Given the description of an element on the screen output the (x, y) to click on. 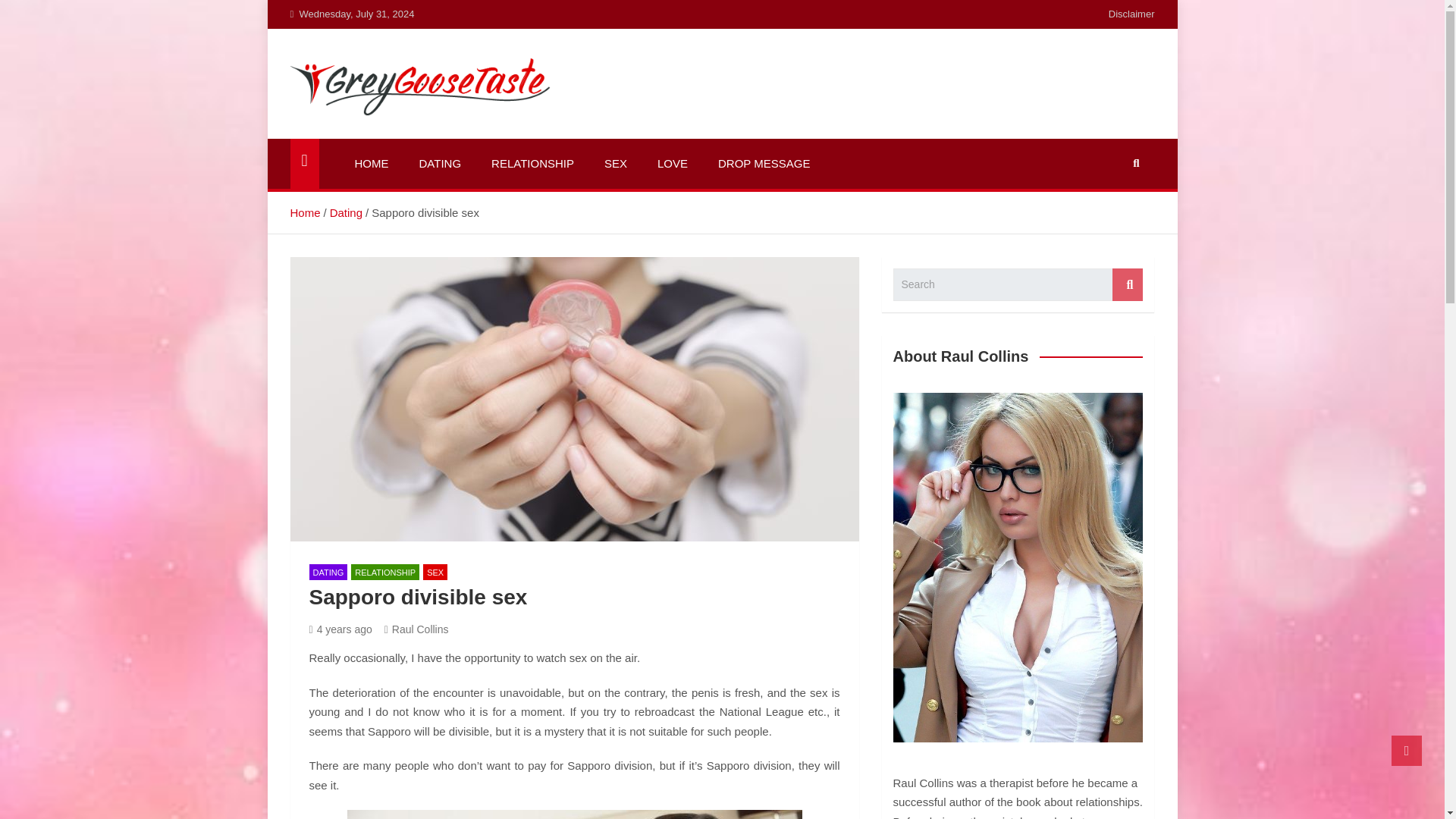
HOME (371, 163)
SEX (615, 163)
DATING (439, 163)
Raul Collins (416, 629)
RELATIONSHIP (384, 571)
Go to Top (1406, 750)
LOVE (672, 163)
RELATIONSHIP (532, 163)
Search (1127, 284)
DATING (327, 571)
Sapporo divisible sex (574, 814)
DROP MESSAGE (764, 163)
4 years ago (340, 629)
Grey Goose Taste (418, 135)
Home (304, 212)
